Given the description of an element on the screen output the (x, y) to click on. 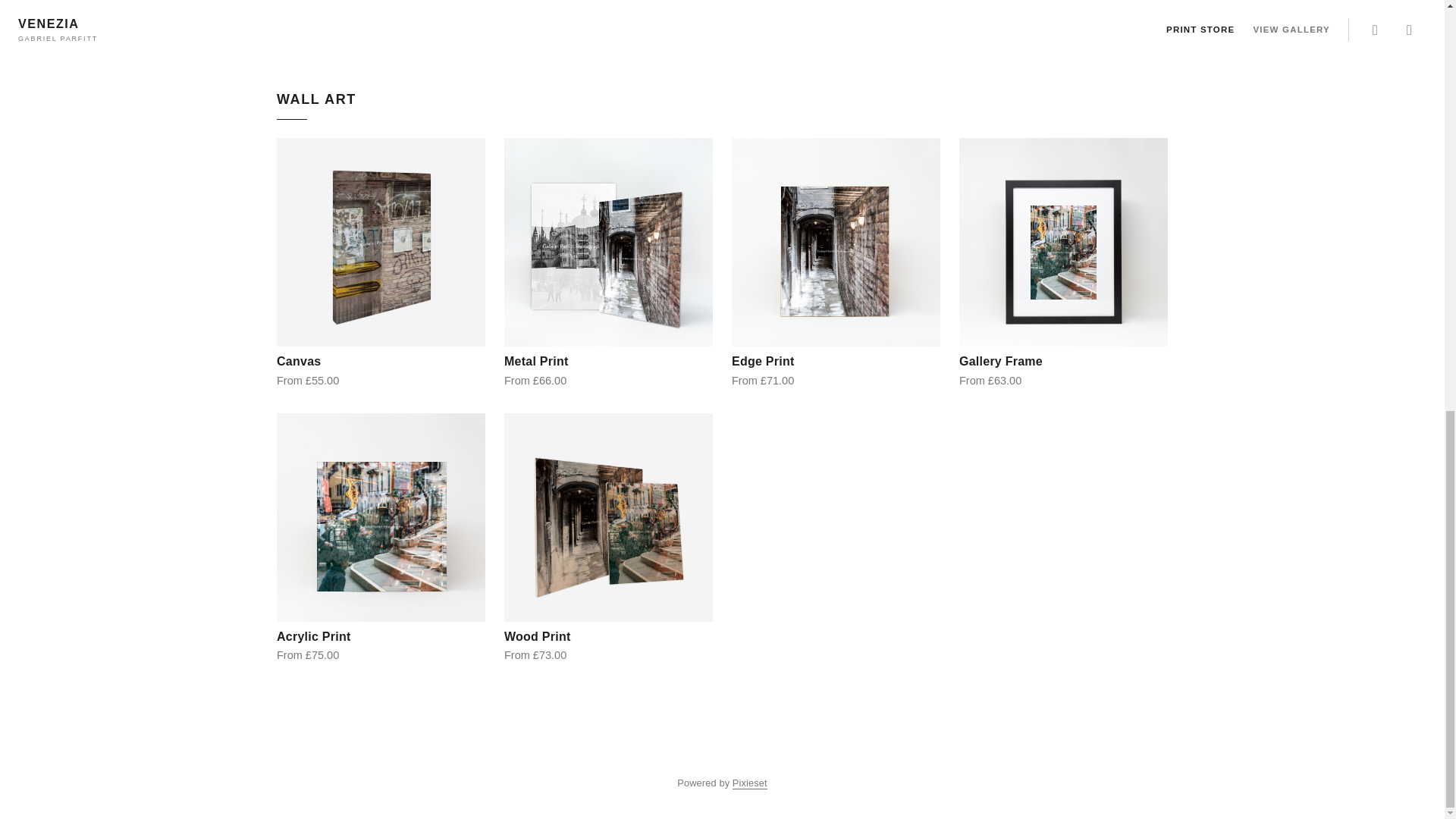
Pixieset (749, 783)
